Given the description of an element on the screen output the (x, y) to click on. 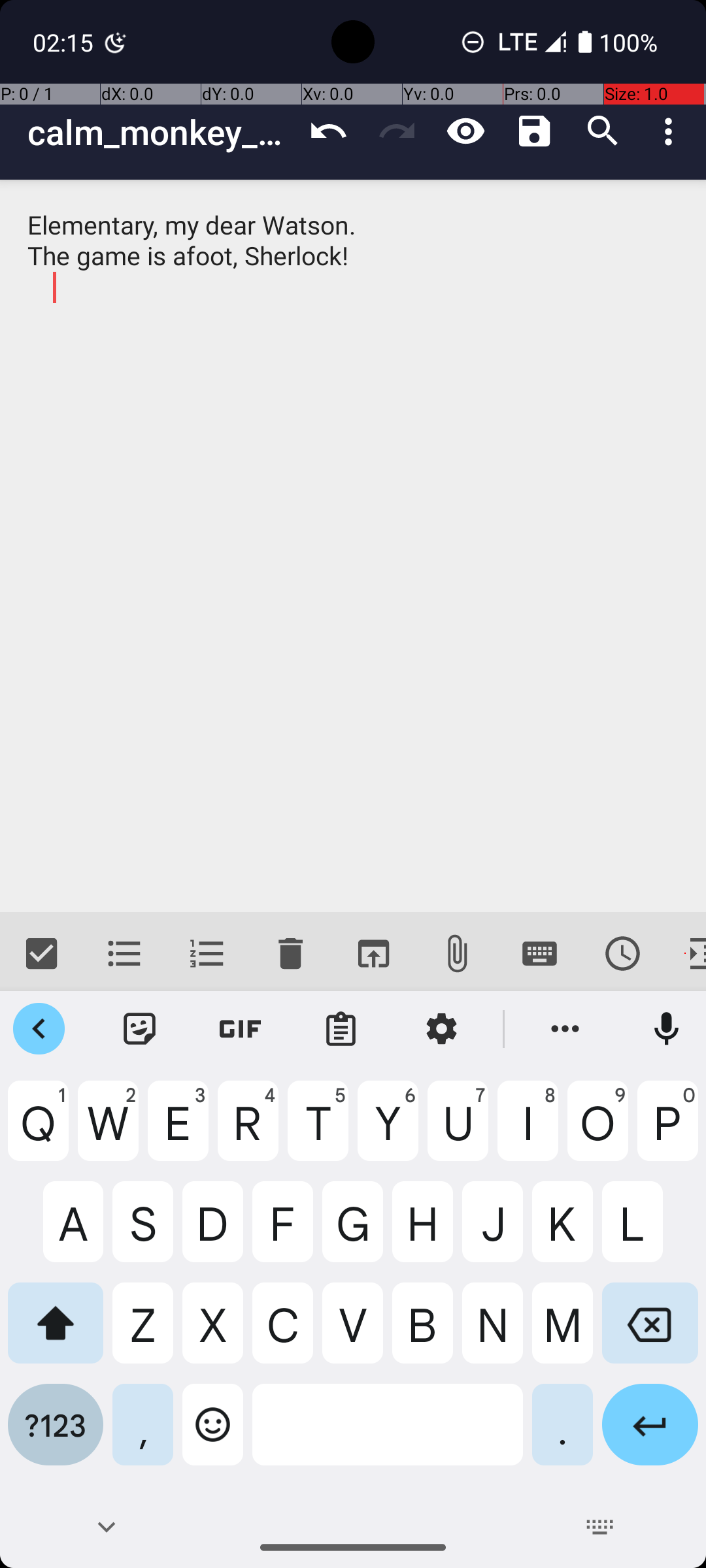
calm_monkey_2023_06_15 Element type: android.widget.TextView (160, 131)
Elementary, my dear Watson.
The game is afoot, Sherlock!
 Element type: android.widget.EditText (353, 545)
02:15 Element type: android.widget.TextView (64, 41)
Digital Wellbeing notification: Bedtime mode is on Element type: android.widget.ImageView (115, 41)
